Given the description of an element on the screen output the (x, y) to click on. 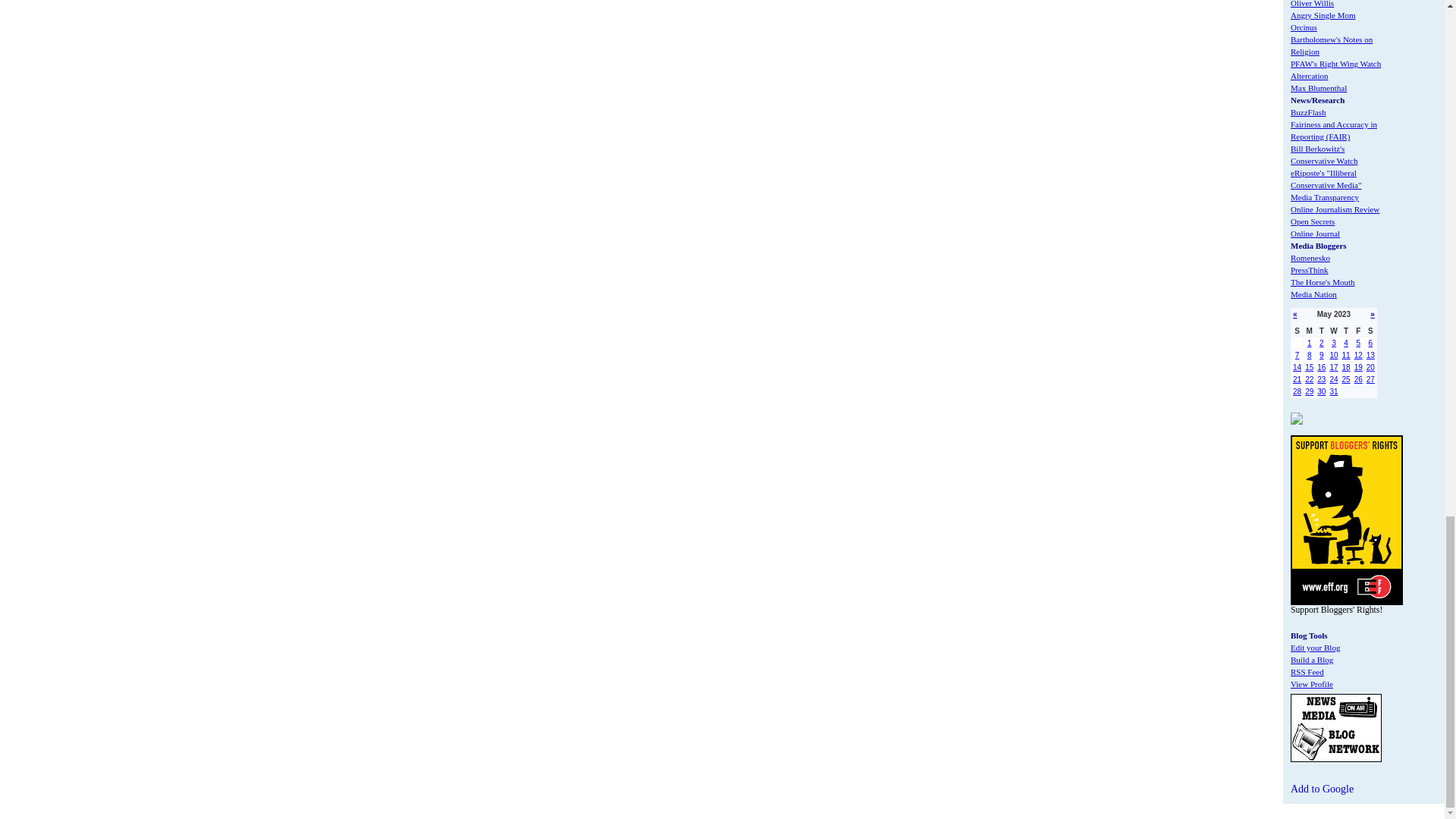
Contributor to: Newstex Blogs on Demand (1296, 420)
